Given the description of an element on the screen output the (x, y) to click on. 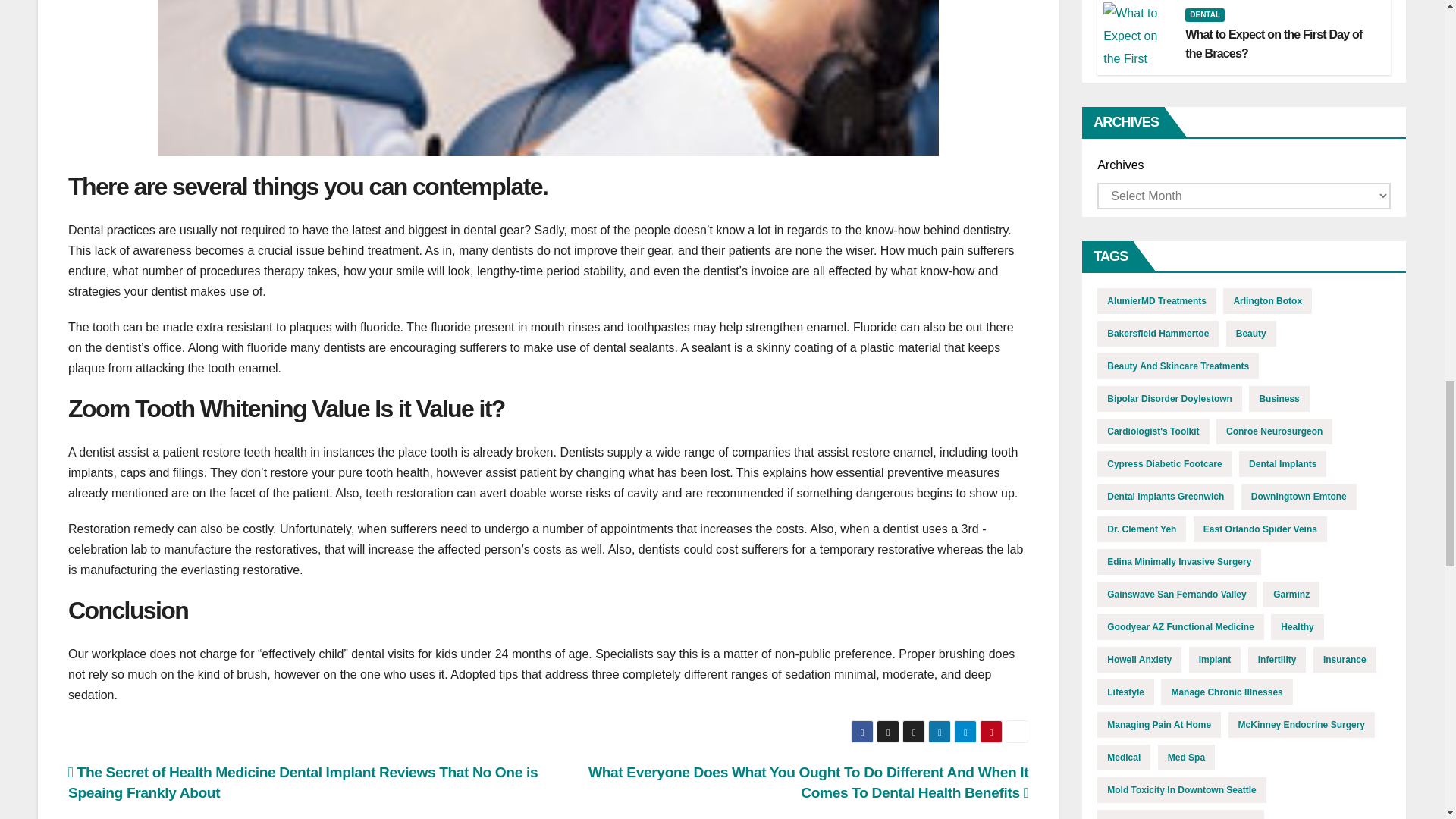
The Low Down on Dental Care Information Revealed (548, 78)
